Given the description of an element on the screen output the (x, y) to click on. 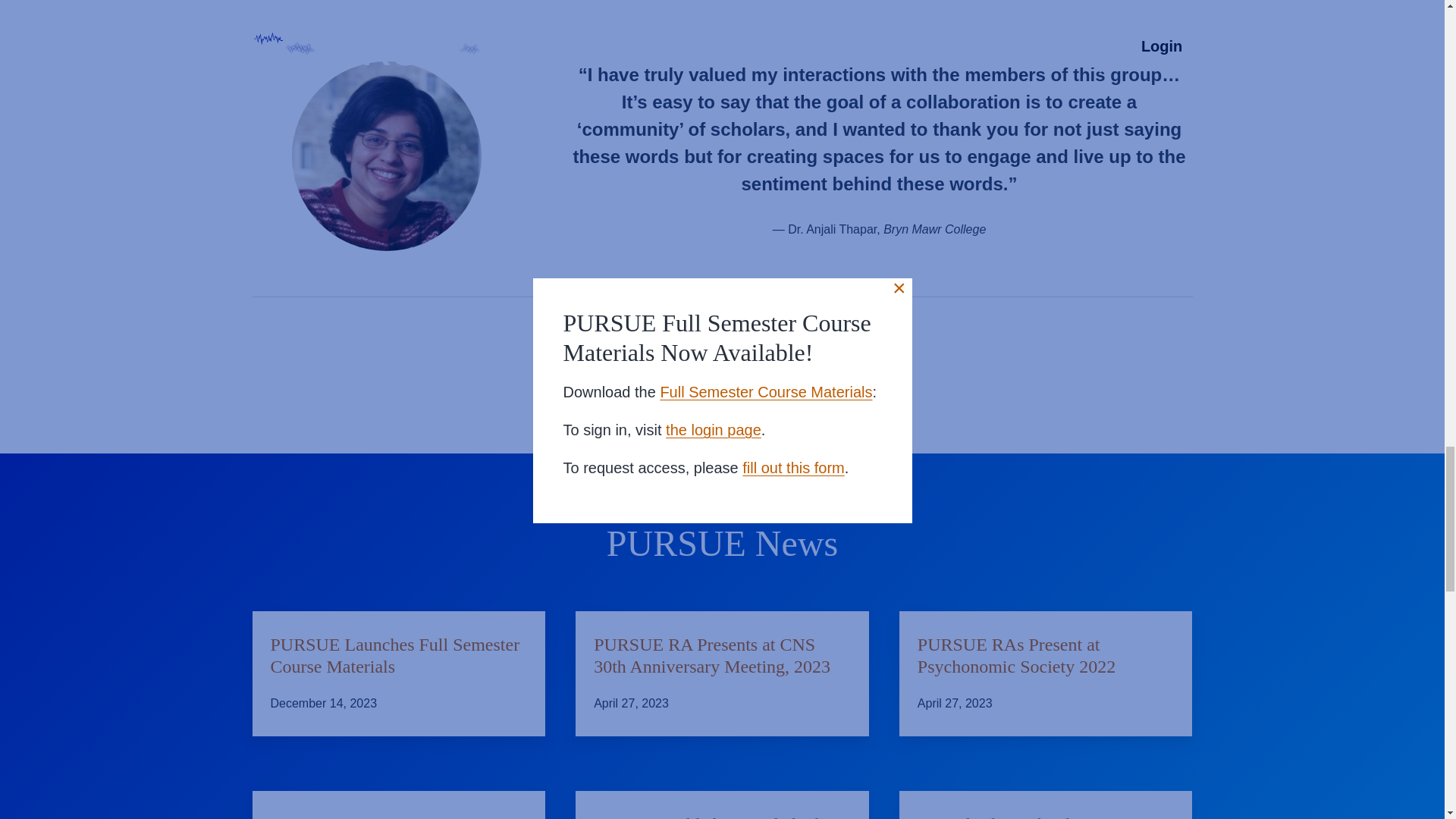
Read More Testimonials (722, 359)
PURSUE Launches Full Semester Course Materials (398, 655)
PURSUE RAs Present at Psychonomic Society 2022 (1045, 655)
PURSUE RA Presents at CNS 30th Anniversary Meeting, 2023 (722, 655)
